Given the description of an element on the screen output the (x, y) to click on. 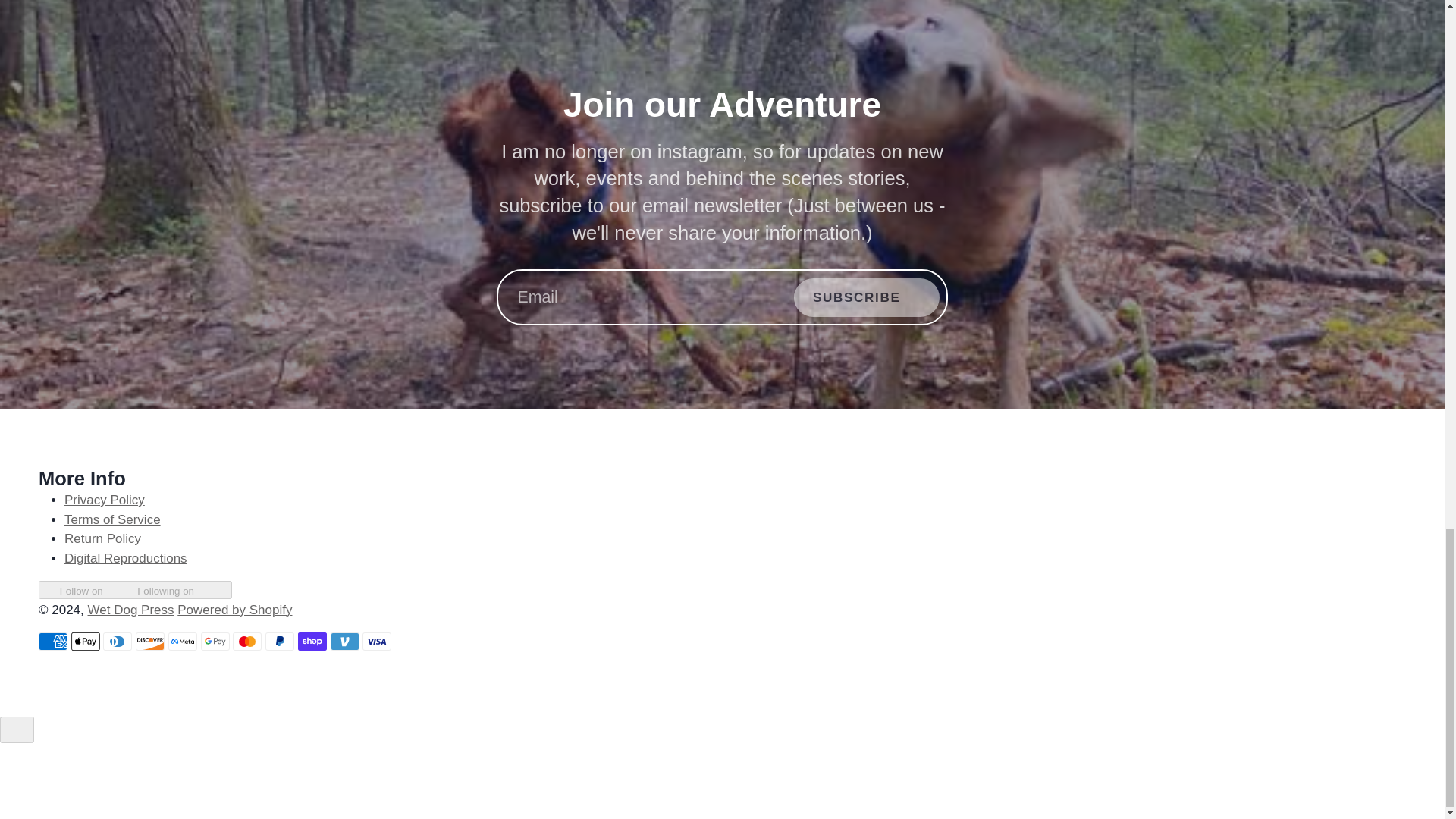
Mastercard (247, 641)
Apple Pay (85, 641)
Privacy Policy (104, 499)
Diners Club (117, 641)
Venmo (344, 641)
American Express (52, 641)
SUBSCRIBE (866, 297)
Google Pay (215, 641)
Discover (149, 641)
Visa (376, 641)
